Given the description of an element on the screen output the (x, y) to click on. 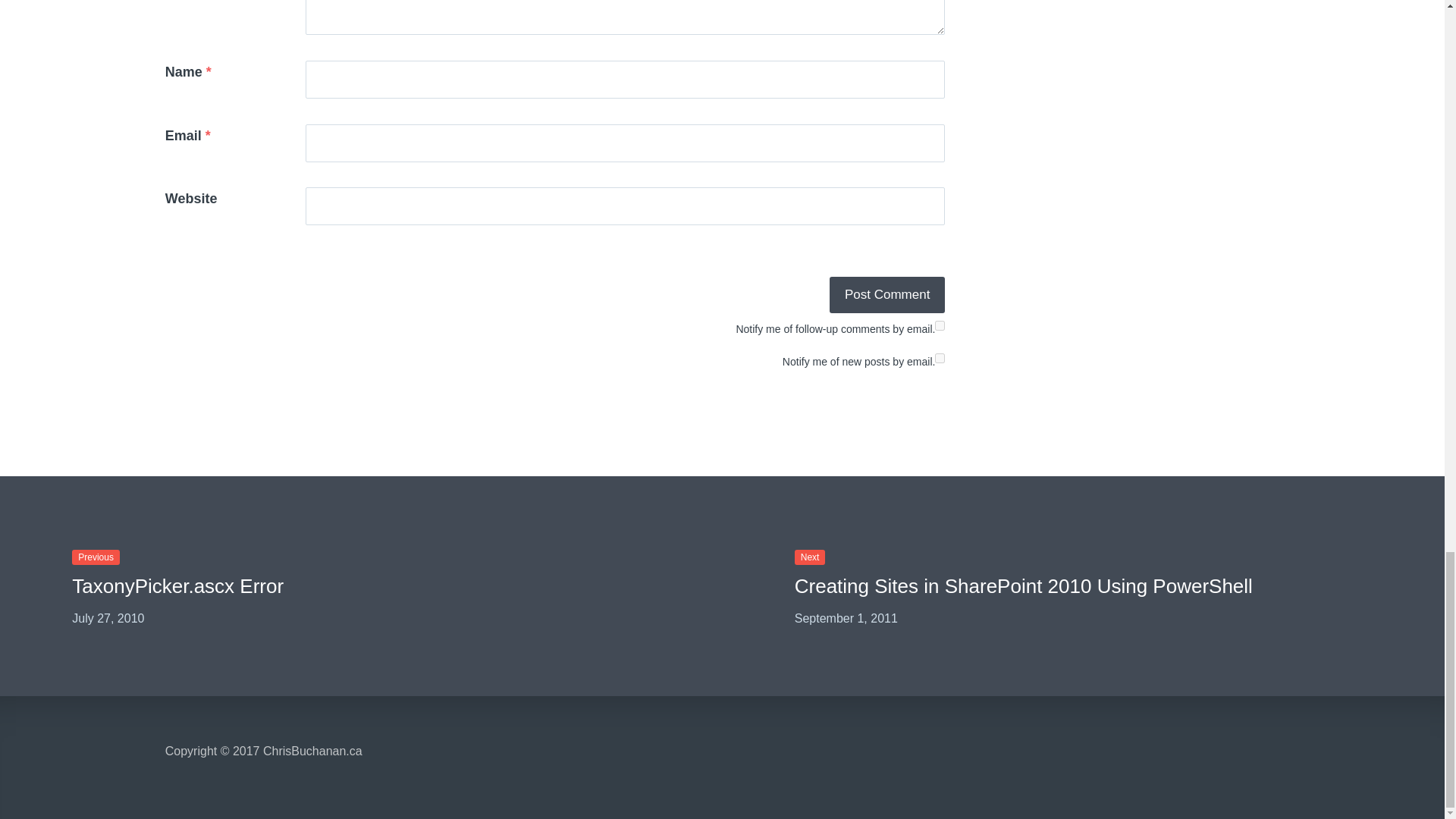
subscribe (939, 325)
subscribe (939, 357)
Post Comment (886, 294)
